Given the description of an element on the screen output the (x, y) to click on. 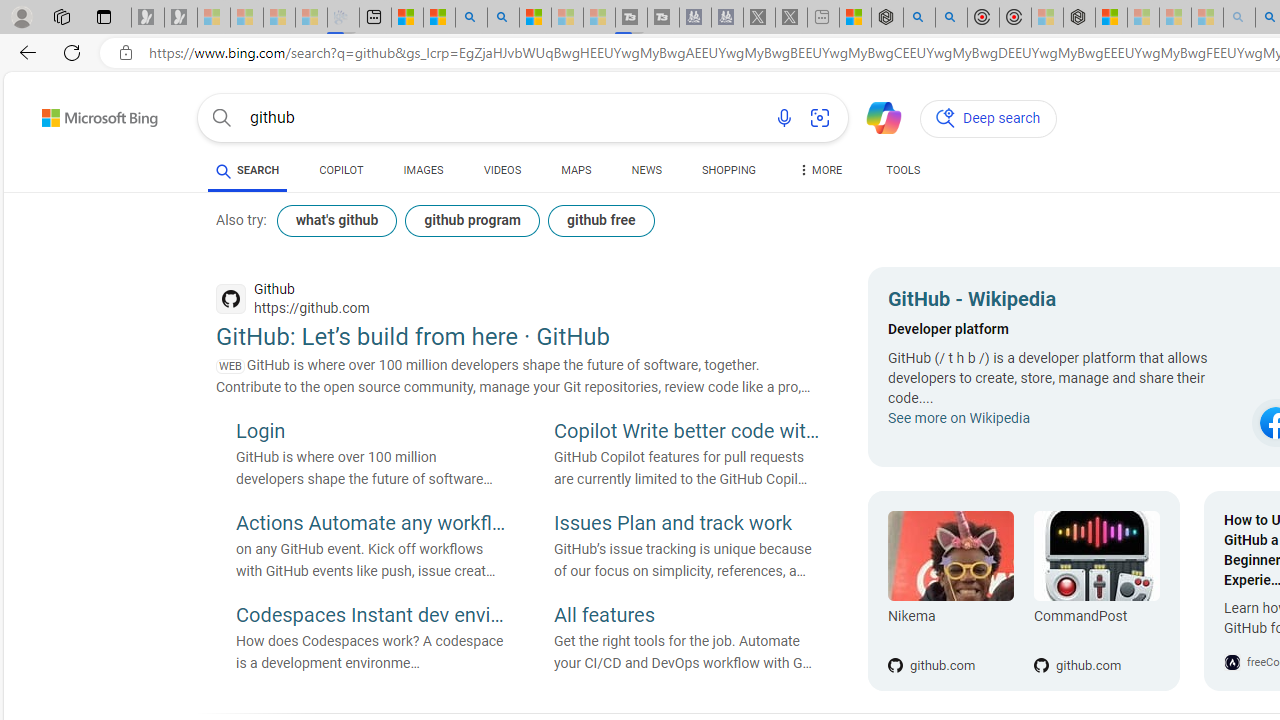
Nikema (950, 556)
Nordace - Nordace Siena Is Not An Ordinary Backpack (1078, 17)
what's github (337, 220)
IMAGES (423, 170)
TOOLS (903, 173)
IMAGES (423, 173)
Copilot Write better code with AI (689, 433)
MORE (819, 173)
